Given the description of an element on the screen output the (x, y) to click on. 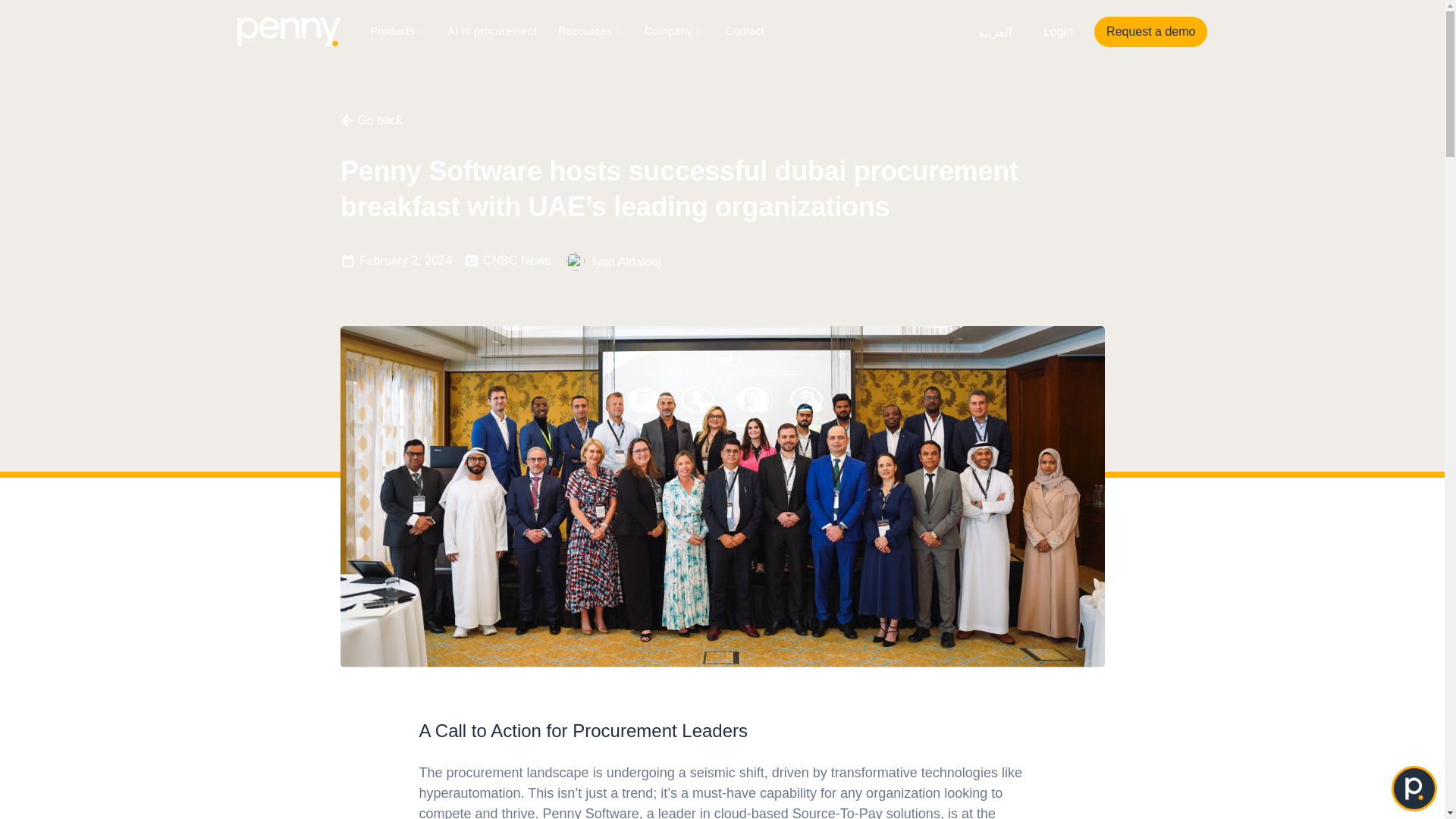
Company (673, 31)
AI in procurement (493, 31)
Contact (744, 31)
Products (397, 31)
Resources (590, 31)
